Given the description of an element on the screen output the (x, y) to click on. 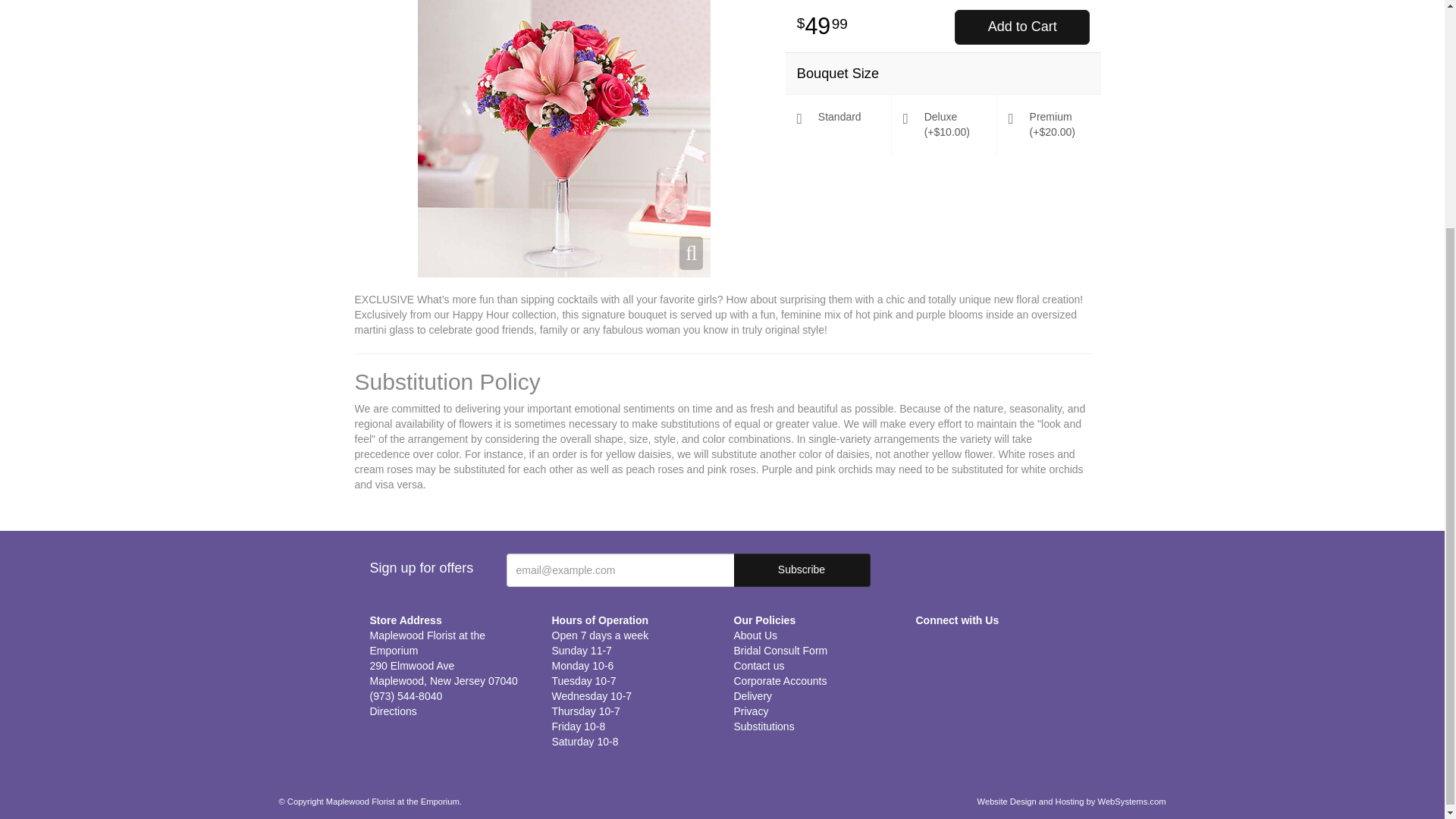
Subscribe (801, 570)
